Given the description of an element on the screen output the (x, y) to click on. 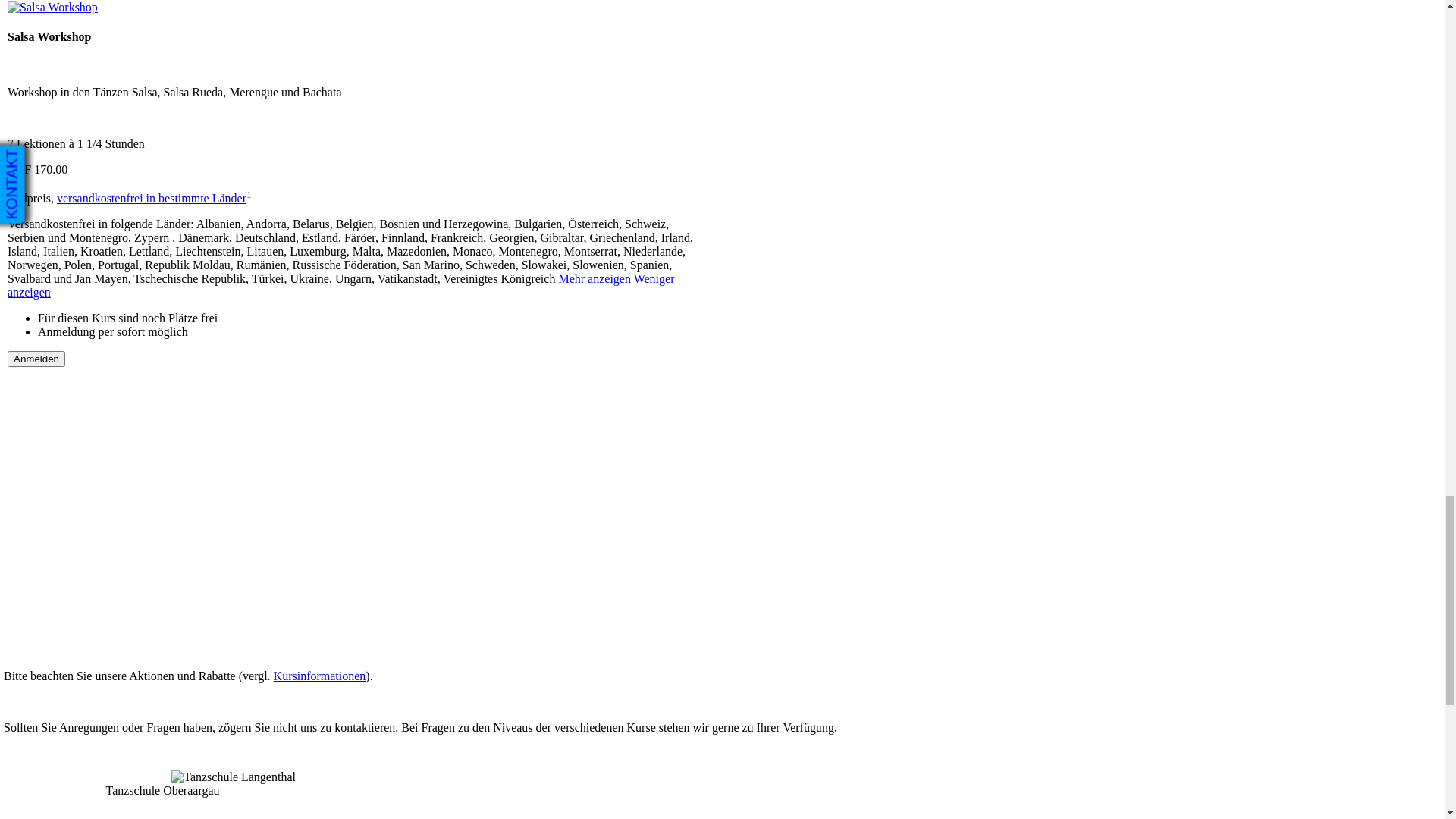
Kinderkurs Element type: text (87, 523)
Workshops Element type: text (87, 156)
Disco-Fox & Jive Tanzkurs Element type: text (127, 87)
Kontakt Element type: text (49, 319)
Hochzeitstanz lernen Element type: text (81, 292)
Allg. Grundkurs (Standard/Latin) Element type: text (141, 454)
Unternehmen Element type: text (63, 210)
Home Element type: text (44, 33)
Photo Element type: text (44, 605)
Aktuelles Element type: text (53, 46)
Lageplan Element type: text (83, 577)
Unternehmen Element type: text (63, 564)
Aktuelles Element type: text (53, 400)
Weihnachtsgutschein Element type: text (81, 714)
Flyer Element type: text (73, 265)
Home Element type: text (44, 386)
Links Element type: text (43, 686)
Workshops Element type: text (57, 753)
Kurzfilm Element type: text (82, 591)
Links Element type: text (43, 333)
Photo Element type: text (44, 251)
Privatstunden Element type: text (93, 183)
Kurzfilm Element type: text (82, 238)
Allg. Grundkurs (Standard/Latin) Element type: text (141, 101)
Kontakt Element type: text (49, 673)
Nr.1 Tanzschule Bailando Element type: text (92, 347)
Kinderkurs Element type: text (87, 169)
Hochzeit-Tanzkurs Element type: text (106, 115)
Weihnachtsgutschein Element type: text (81, 360)
Bachata Tanzkurs Element type: text (103, 482)
Hochzeit-Tanzkurs Element type: text (106, 468)
Aktuelle-Tanzkurse-Angebot Element type: text (100, 413)
Privatstunden Element type: text (93, 536)
Flyer Element type: text (73, 618)
Kursinfos Element type: text (54, 197)
Workshops Element type: text (87, 509)
Aktuelle-Tanzkurse-Angebot Element type: text (100, 60)
Salsa Tanzkurs Element type: text (96, 427)
Disco-Fox & Jive Tanzkurs Element type: text (127, 441)
Kursinfos Element type: text (54, 550)
Aktuelle-Tanzkurse-Angebot Element type: text (100, 740)
Kizomba Tanzkurs Element type: text (106, 142)
Hochzeitstanz lernen Element type: text (81, 646)
Bachata Tanzkurs Element type: text (103, 128)
Nr.1 Tanzschule Bailando Element type: text (92, 700)
Kizomba Tanzkurs Element type: text (106, 495)
Salsa Tanzkurs Element type: text (96, 74)
Tanzschuhe Element type: text (58, 279)
Tanzschuhe Element type: text (58, 632)
Lageplan Element type: text (83, 224)
